Given the description of an element on the screen output the (x, y) to click on. 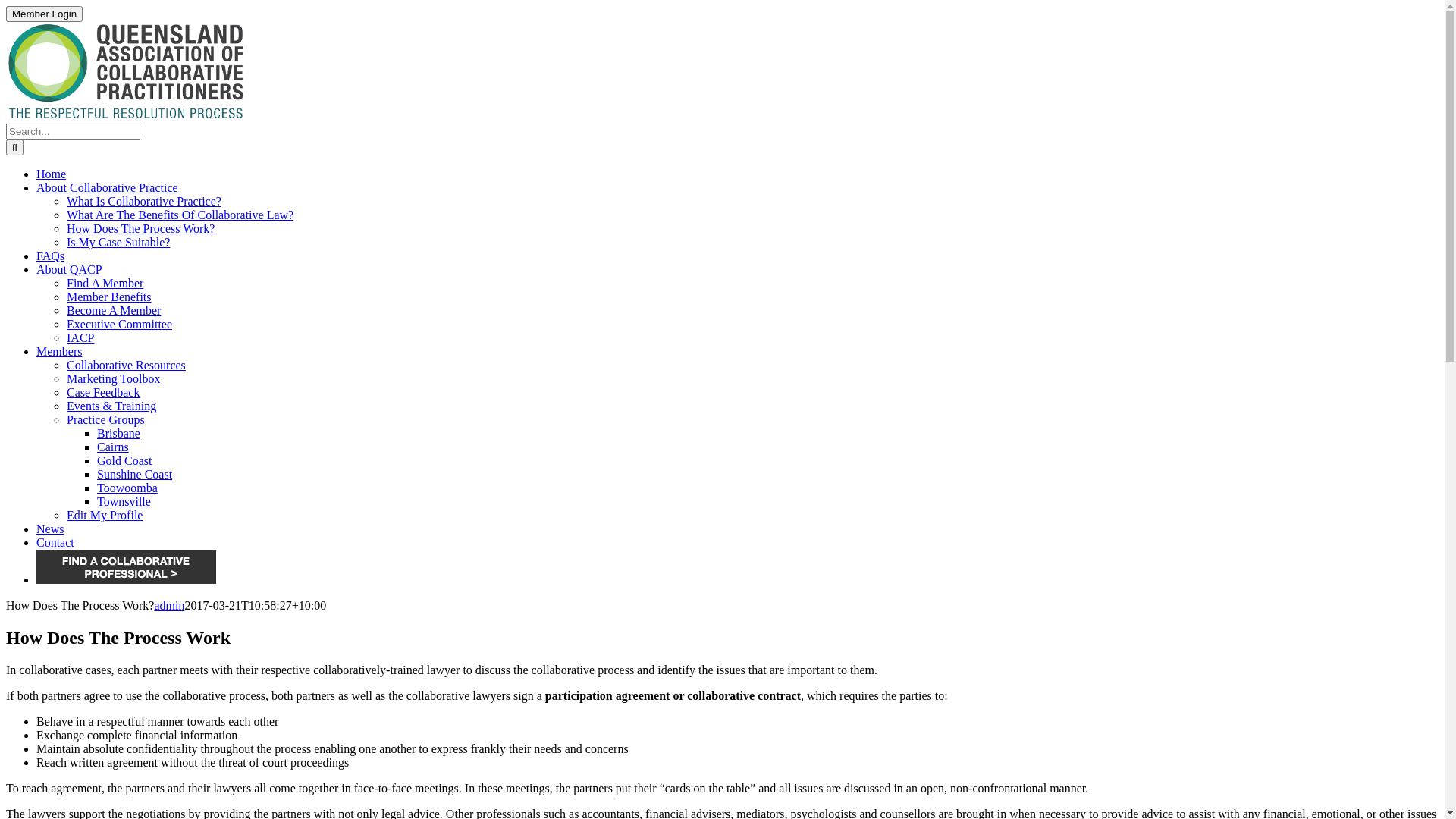
News Element type: text (49, 528)
Cairns Element type: text (112, 446)
Skip to content Element type: text (5, 5)
Events & Training Element type: text (111, 405)
Case Feedback Element type: text (102, 391)
Become A Member Element type: text (113, 310)
Brisbane Element type: text (118, 432)
IACP Element type: text (80, 337)
Marketing Toolbox Element type: text (113, 378)
Collaborative Resources Element type: text (125, 364)
Members Element type: text (58, 351)
Edit My Profile Element type: text (104, 514)
admin Element type: text (168, 605)
Home Element type: text (50, 173)
What Are The Benefits Of Collaborative Law? Element type: text (179, 214)
How Does The Process Work? Element type: text (140, 228)
What Is Collaborative Practice? Element type: text (143, 200)
Sunshine Coast Element type: text (134, 473)
Townsville Element type: text (123, 501)
Executive Committee Element type: text (119, 323)
Contact Element type: text (55, 542)
Gold Coast Element type: text (124, 460)
Practice Groups Element type: text (105, 419)
Member Login Element type: text (44, 13)
FAQs Element type: text (50, 255)
Member Login Element type: hover (44, 13)
About QACP Element type: text (69, 269)
Find A Member Element type: text (104, 282)
Member Benefits Element type: text (108, 296)
Toowoomba Element type: text (127, 487)
Is My Case Suitable? Element type: text (117, 241)
About Collaborative Practice Element type: text (107, 187)
